Given the description of an element on the screen output the (x, y) to click on. 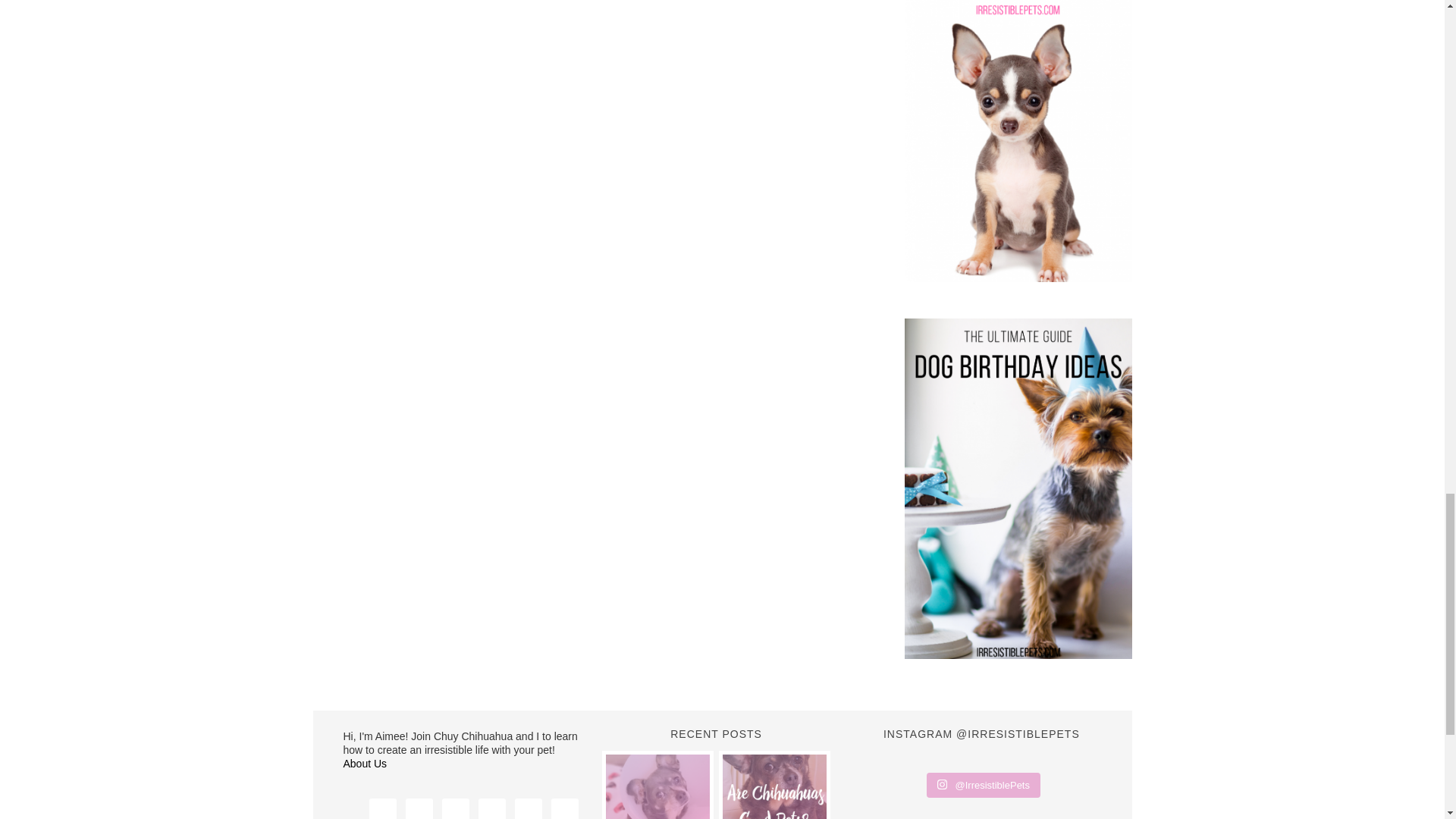
About Us (364, 763)
Are Chihuahuas Good Pets? (773, 786)
My Chihuahua Had a Splenectomy (657, 786)
